Given the description of an element on the screen output the (x, y) to click on. 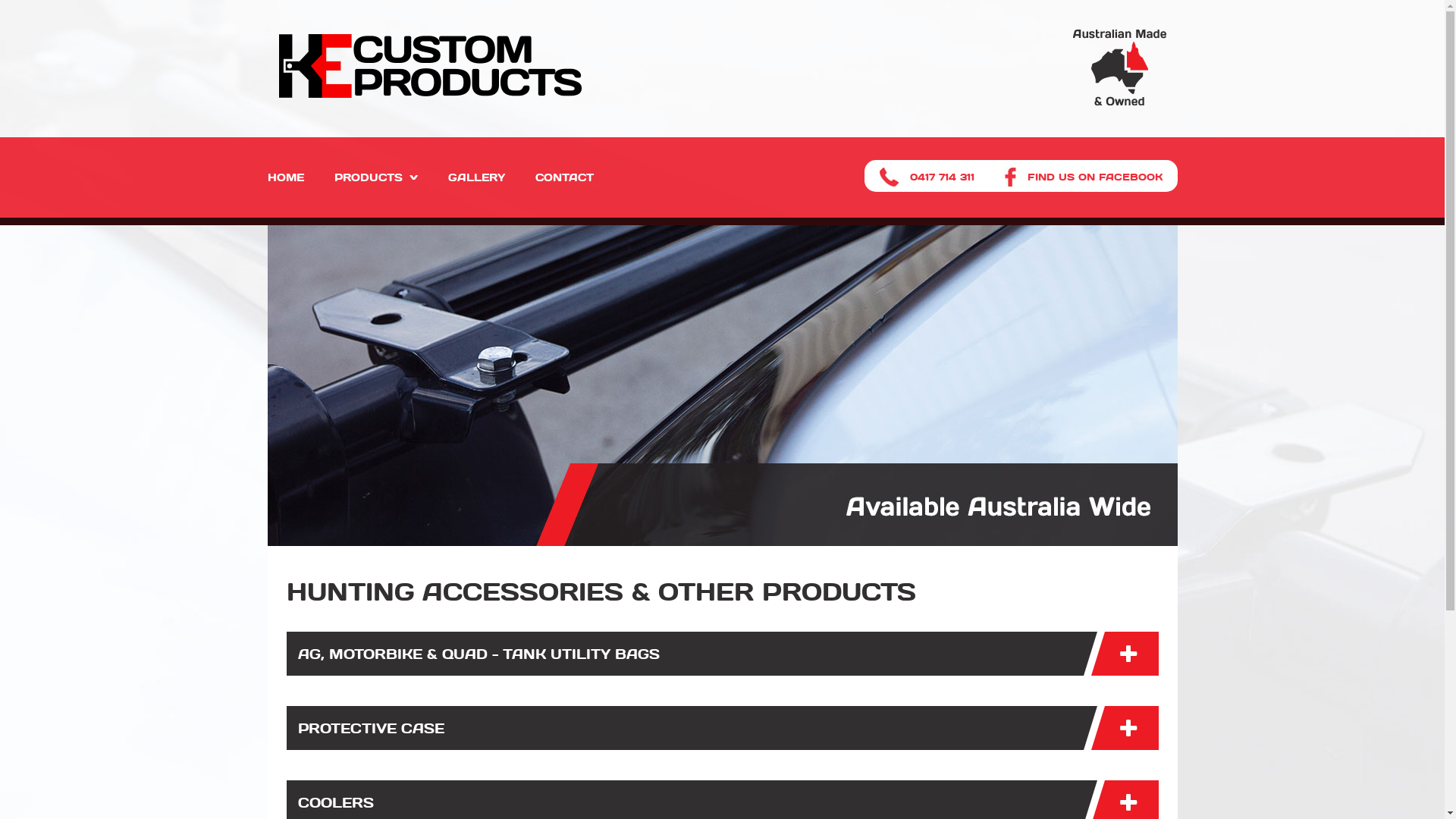
FIND US ON FACEBOOK Element type: text (1089, 176)
PRODUCTS Element type: text (375, 177)
GALLERY Element type: text (475, 177)
0417 714 311 Element type: text (935, 176)
+ Element type: text (1119, 653)
+ Element type: text (1119, 727)
HOME Element type: text (284, 177)
CONTACT Element type: text (564, 177)
